Given the description of an element on the screen output the (x, y) to click on. 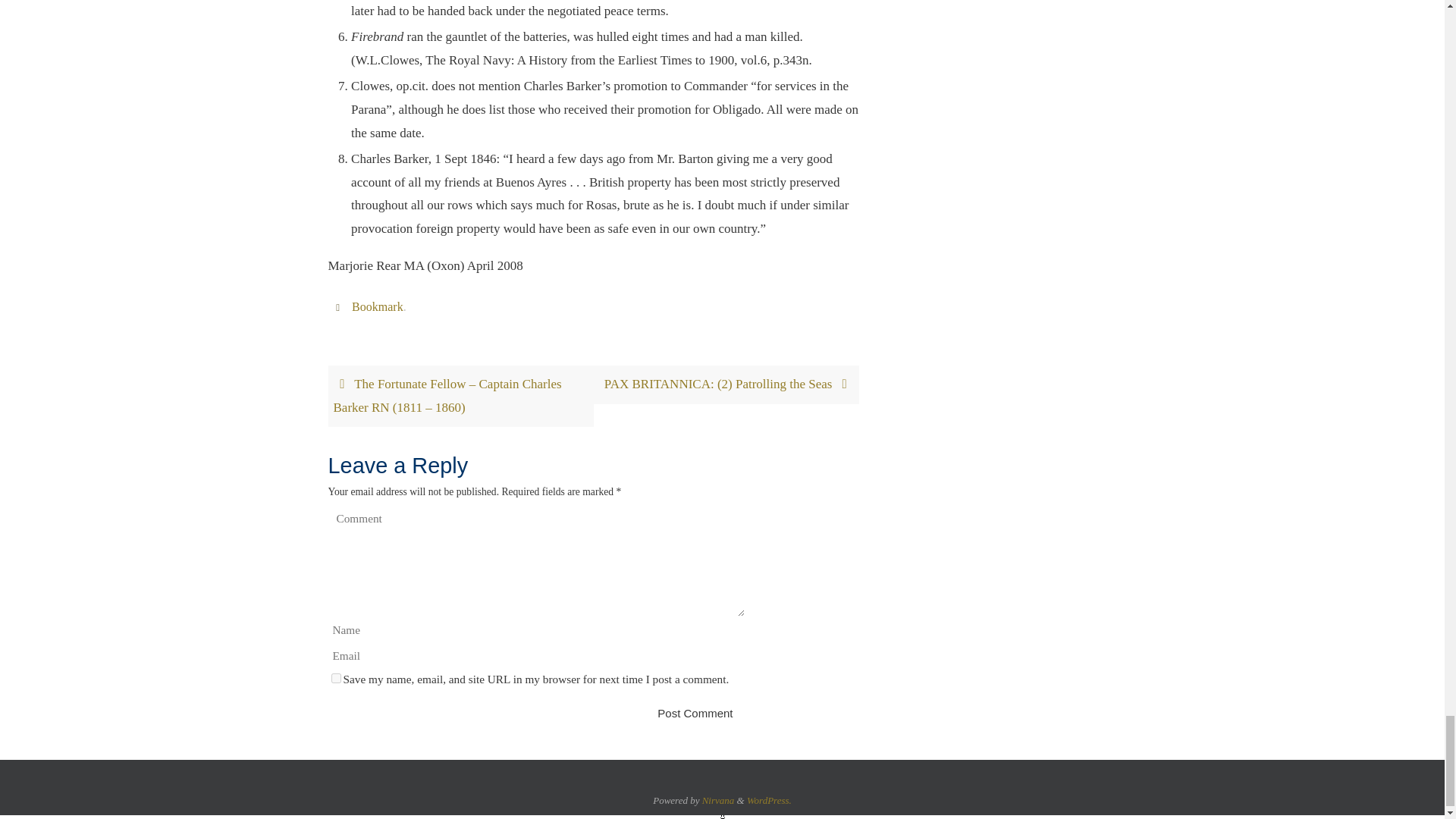
Semantic Personal Publishing Platform (769, 799)
 Bookmark the permalink (339, 306)
Post Comment (694, 713)
Permalink to PAX BRITANNICA: The Parana (377, 306)
Nirvana Theme by Cryout Creations (718, 799)
Post Comment (694, 713)
yes (335, 678)
Bookmark (377, 306)
